Given the description of an element on the screen output the (x, y) to click on. 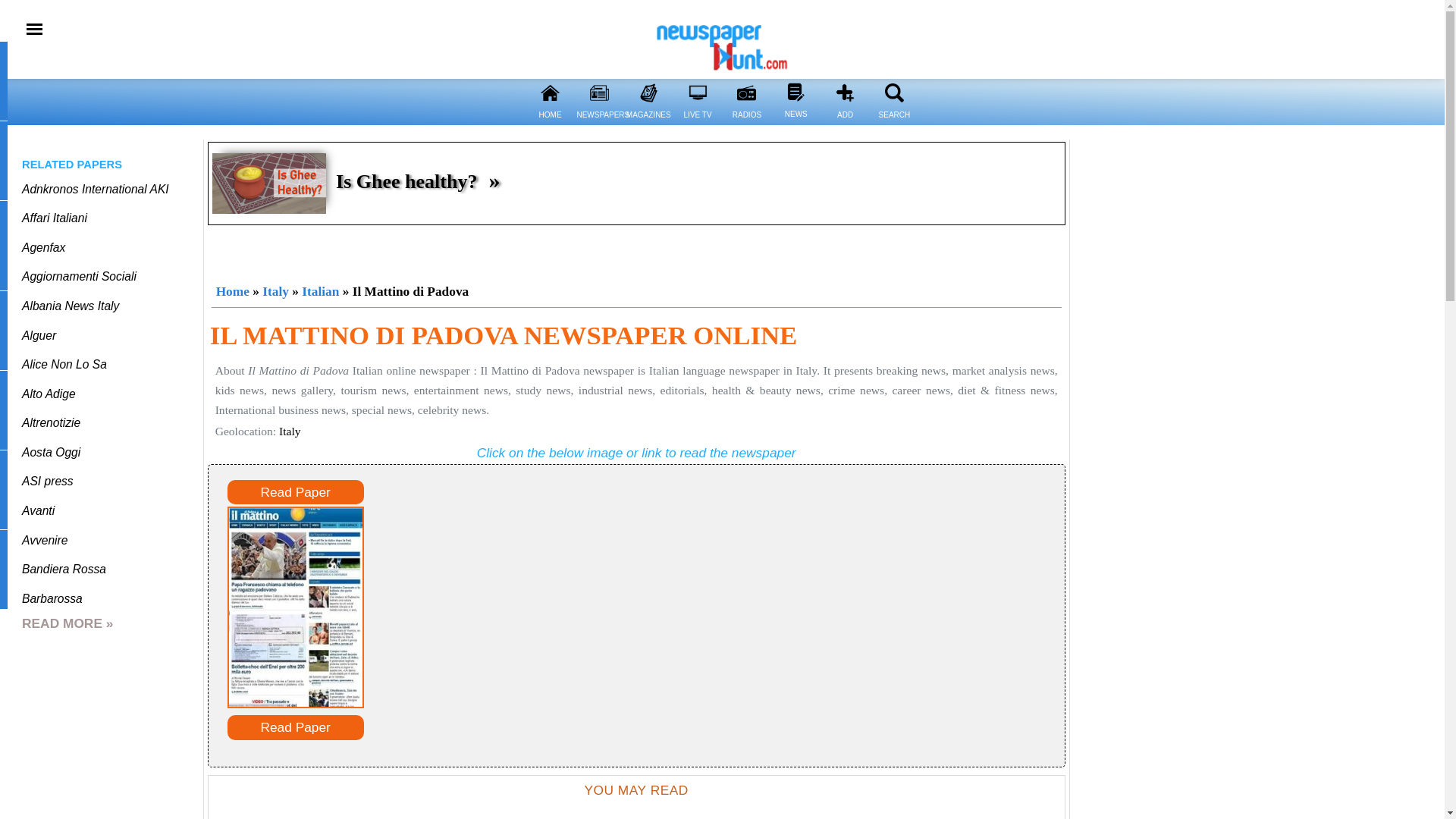
NEWS (795, 123)
Adnkronos International AKI (94, 188)
Aosta Oggi (50, 451)
LIVE TV (697, 124)
ASI press (47, 481)
NEWSPAPER (598, 92)
3rd party ad content (636, 249)
Alto Adige (48, 393)
Altrenotizie (50, 422)
Albania News Italy (70, 305)
SEARCH (893, 124)
HOME (550, 124)
SEARCH (894, 92)
MAGAZINE (648, 92)
Aggiornamenti Sociali (78, 276)
